Given the description of an element on the screen output the (x, y) to click on. 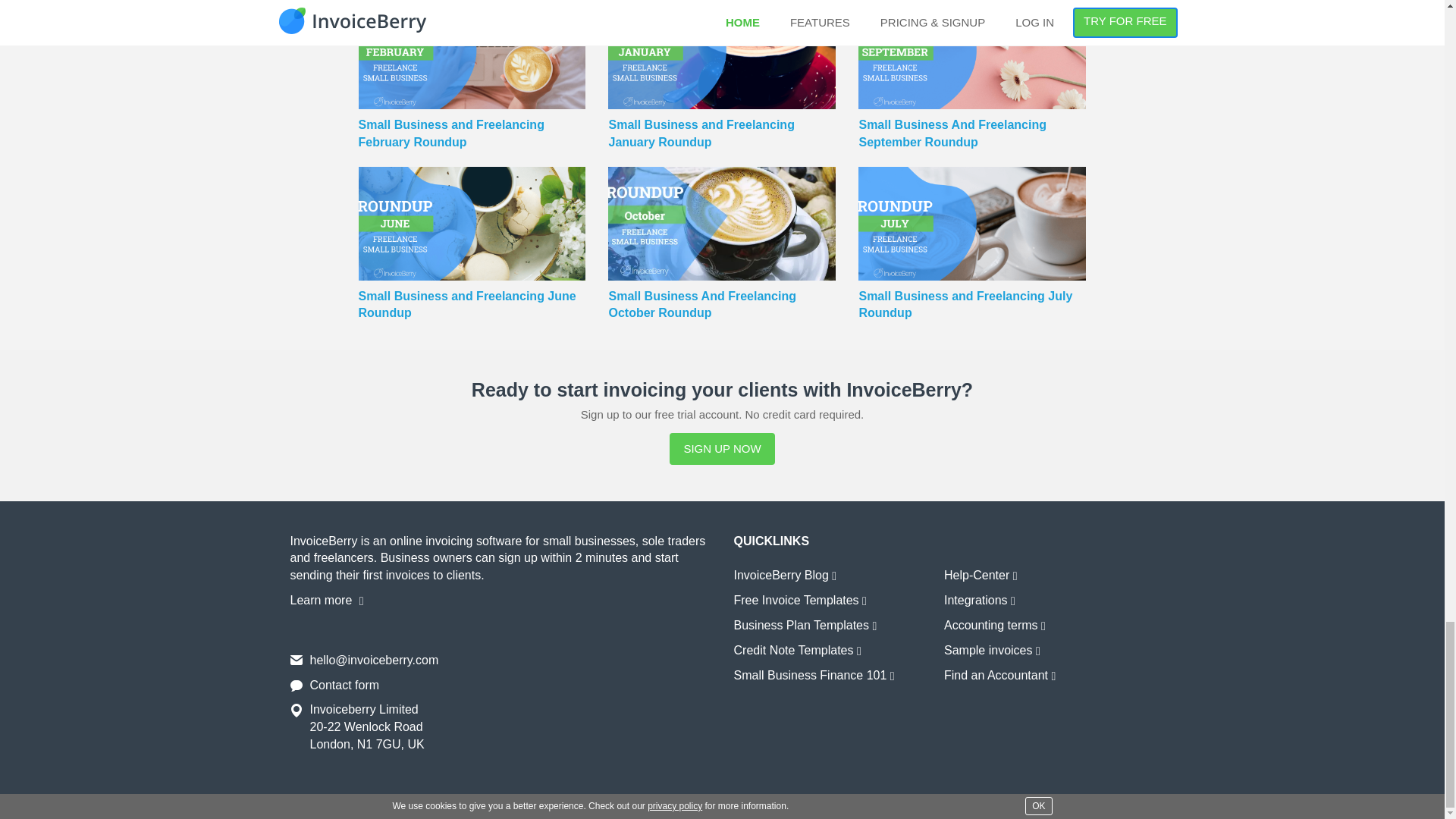
Small Business And Freelancing October Roundup (721, 223)
Roundup featured image (972, 54)
small-business-freelance-roundup-january (721, 54)
Small Business And Freelancing October Roundup (721, 364)
Small Business and Freelancing January Roundup (721, 193)
small-business-freelance-june-roundup (471, 223)
Small Business And Freelancing September Roundup (972, 193)
Small Business and Freelancing February Roundup (471, 193)
Small Business and Freelancing June Roundup (471, 364)
Small Business and Freelancing February Roundup (471, 193)
